Given the description of an element on the screen output the (x, y) to click on. 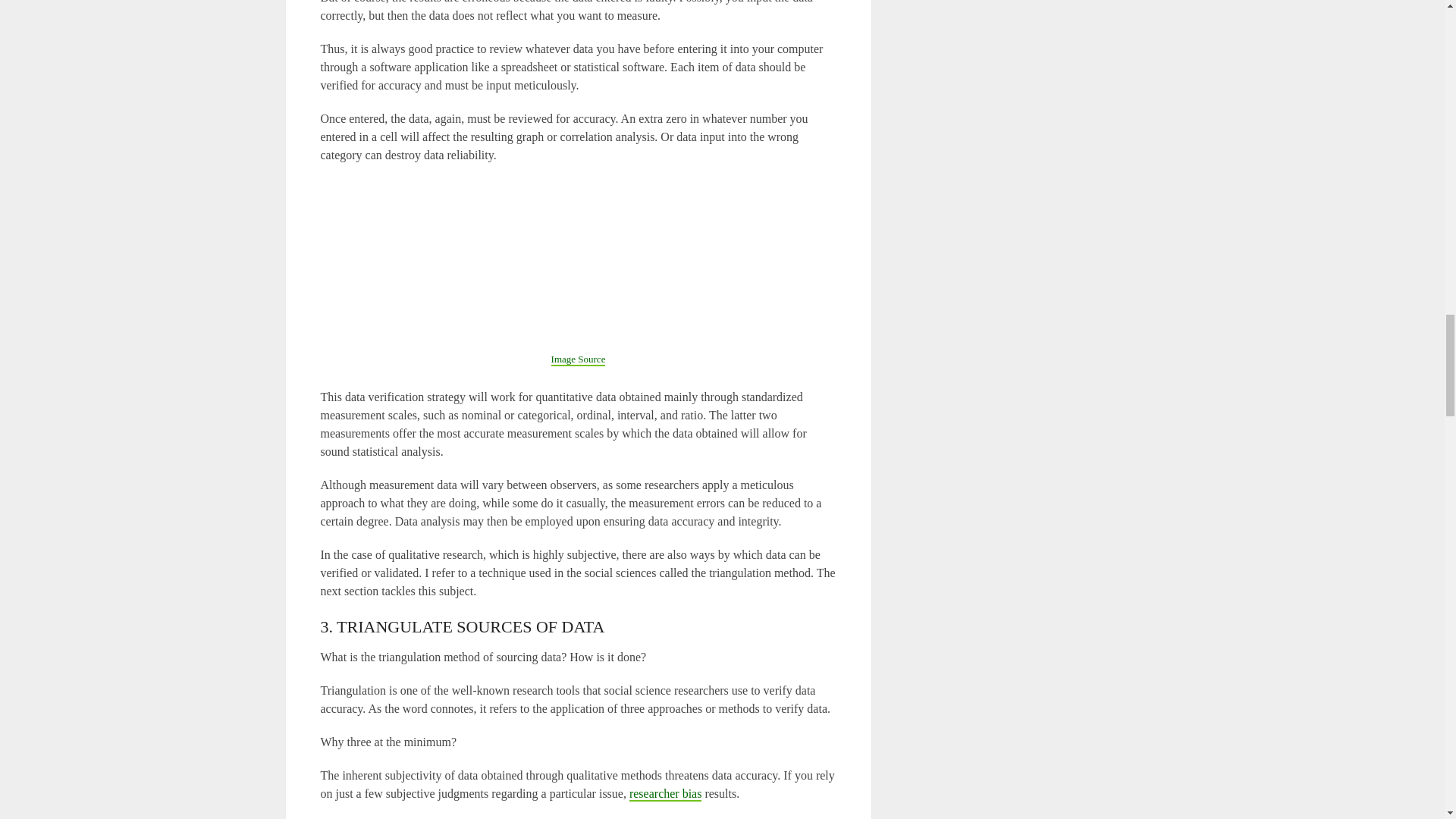
Convincing data (578, 359)
